Given the description of an element on the screen output the (x, y) to click on. 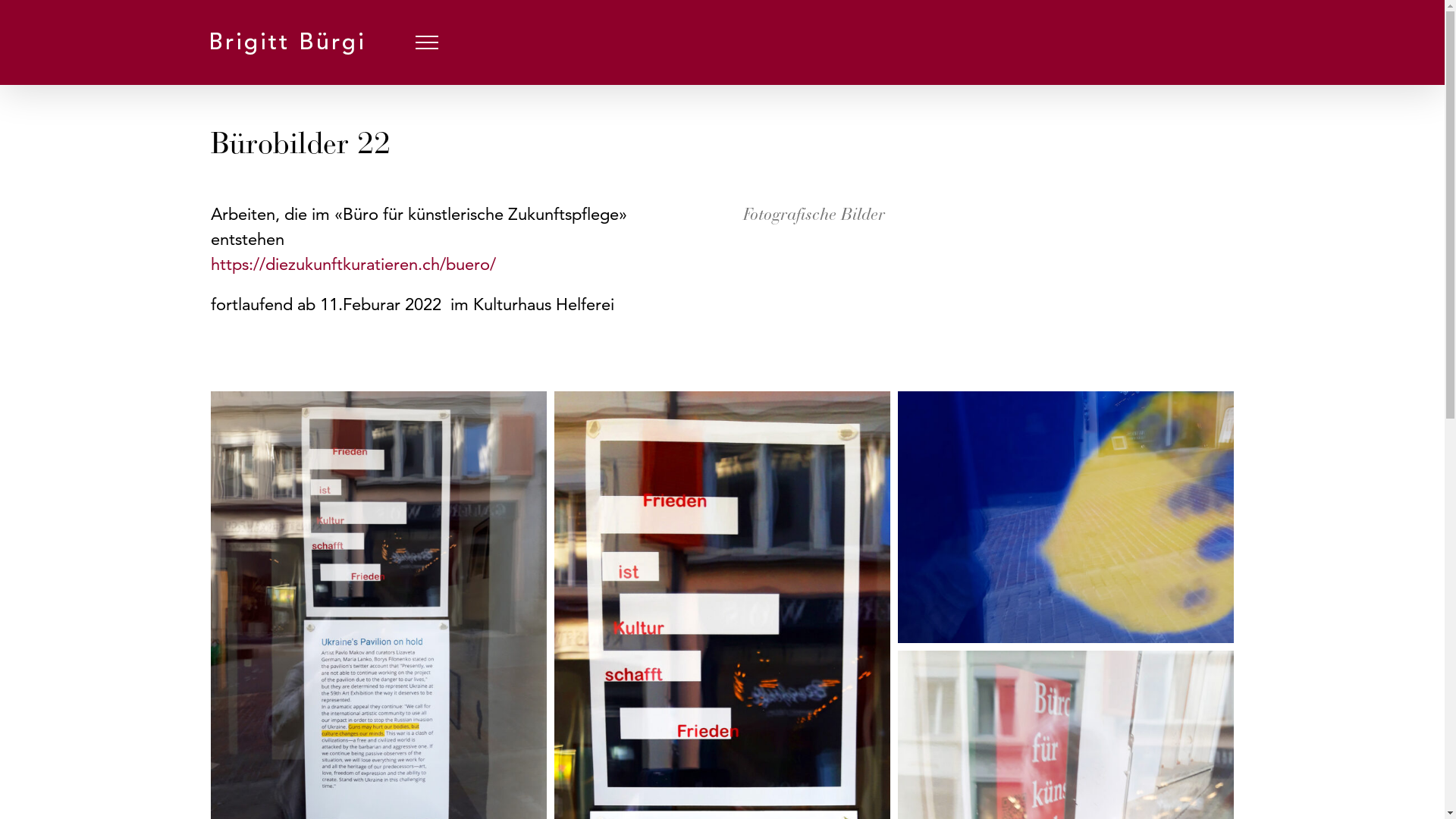
blaugelb Element type: hover (1065, 517)
https://diezukunftkuratieren.ch/buero/ Element type: text (352, 264)
